Given the description of an element on the screen output the (x, y) to click on. 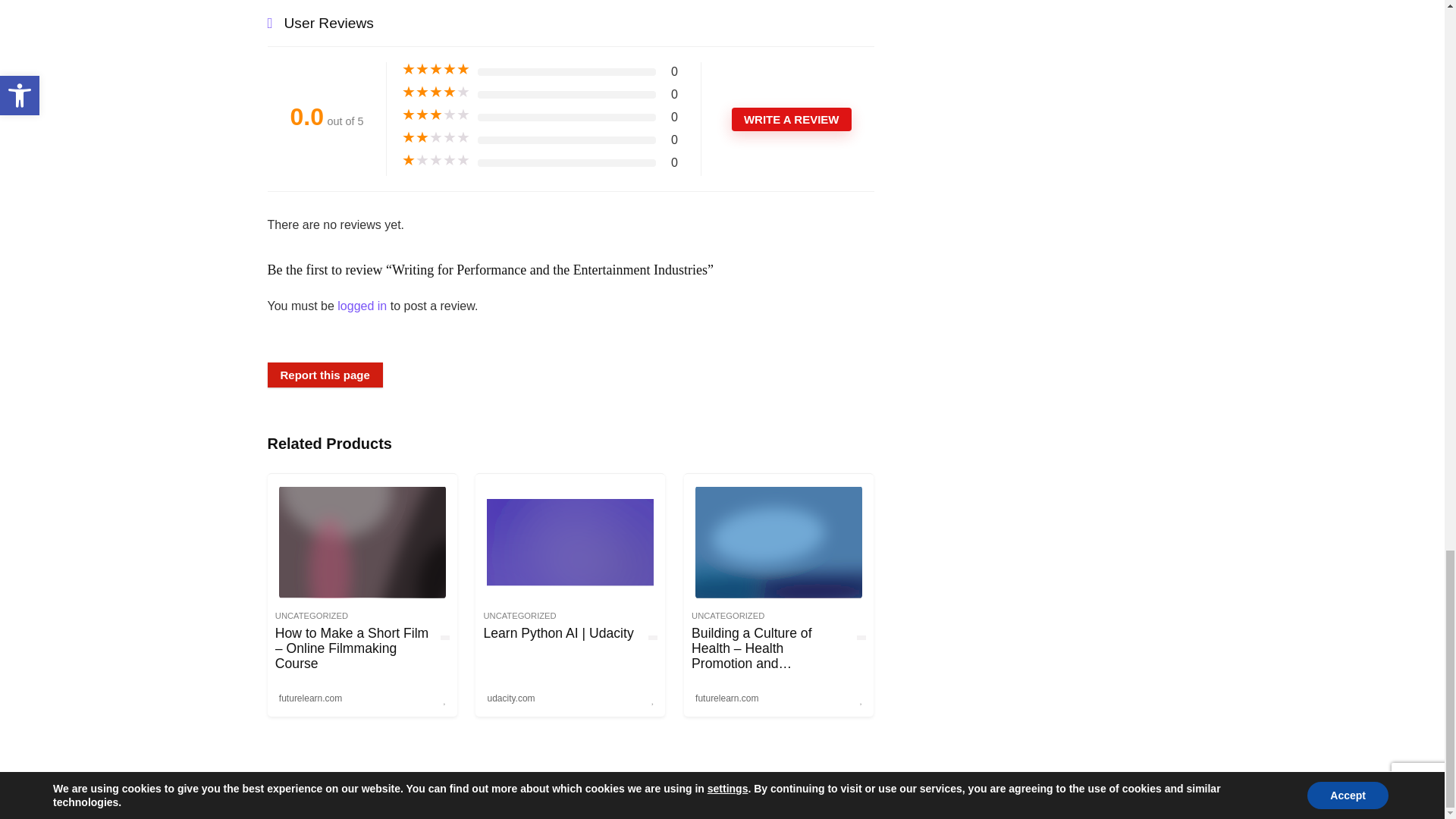
Rated 5 out of 5 (435, 69)
WRITE A REVIEW (791, 119)
Rated 2 out of 5 (435, 137)
Rated 4 out of 5 (435, 92)
Rated 3 out of 5 (435, 114)
Rated 1 out of 5 (435, 160)
